Given the description of an element on the screen output the (x, y) to click on. 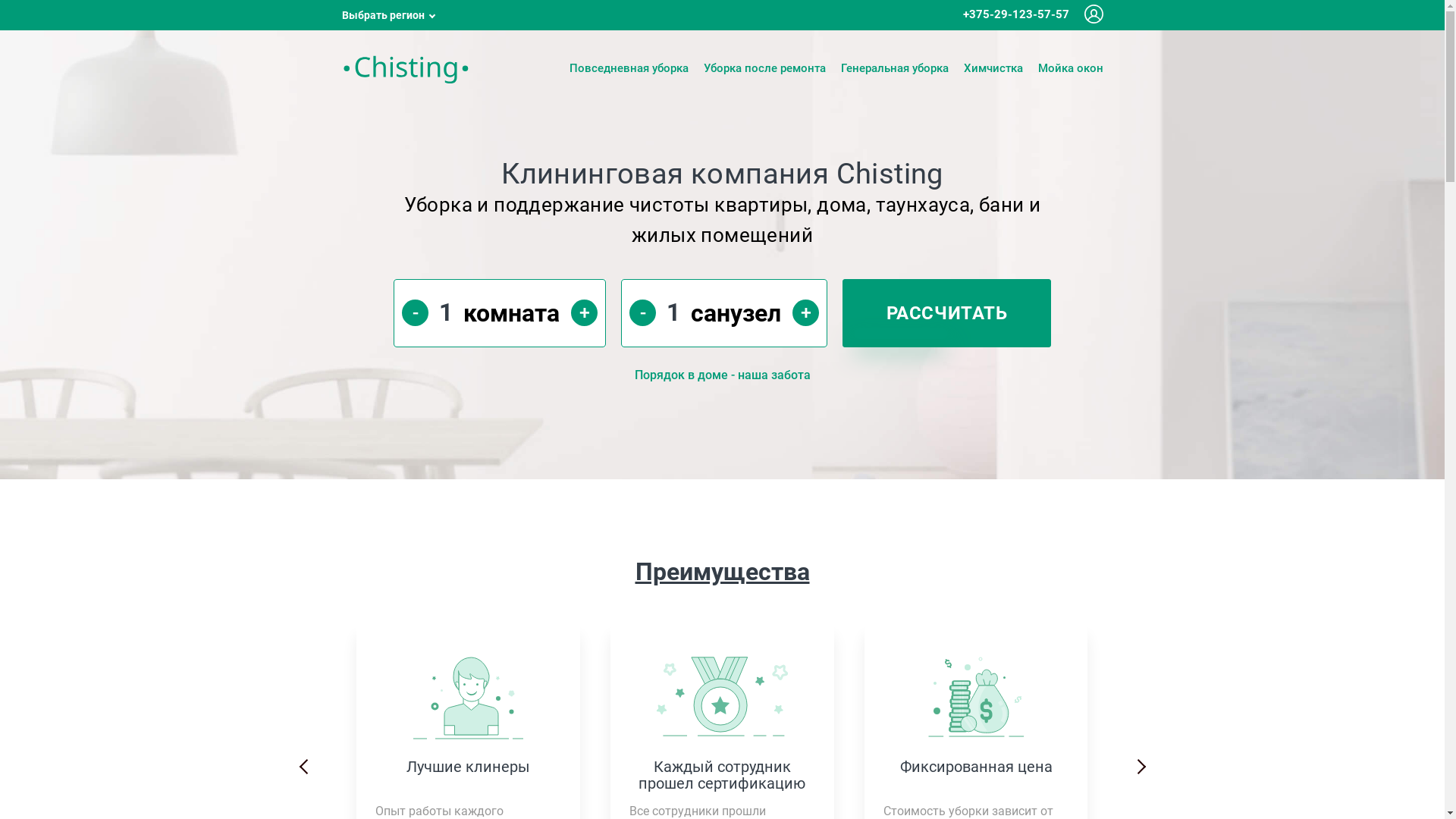
+375-29-123-57-57 Element type: text (1015, 14)
+ Element type: text (805, 312)
- Element type: text (414, 312)
+ Element type: text (584, 312)
- Element type: text (642, 312)
